Given the description of an element on the screen output the (x, y) to click on. 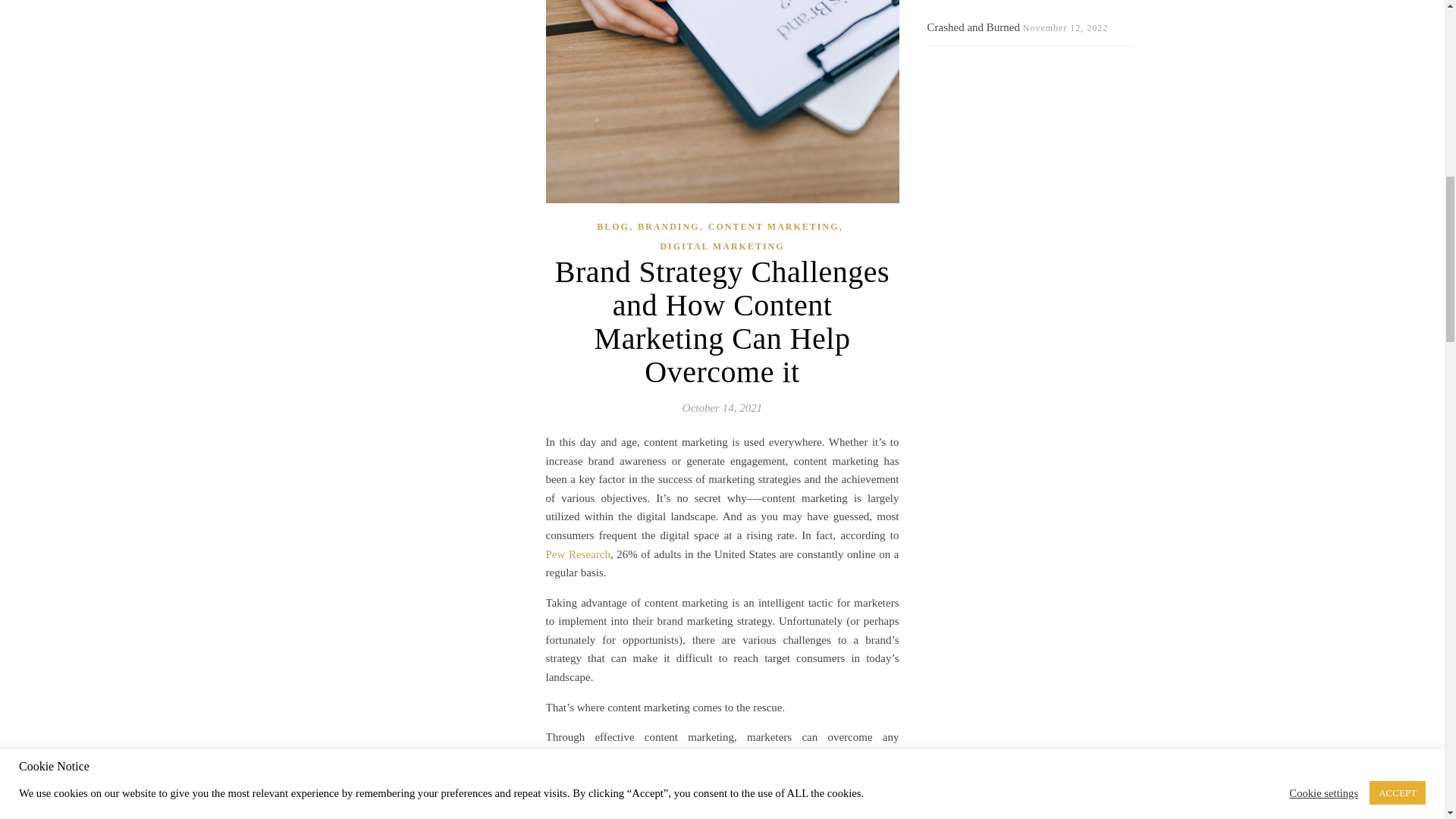
BRANDING (667, 226)
Pew Research (578, 553)
BLOG (612, 226)
DIGITAL MARKETING (721, 246)
CONTENT MARKETING (773, 226)
